Given the description of an element on the screen output the (x, y) to click on. 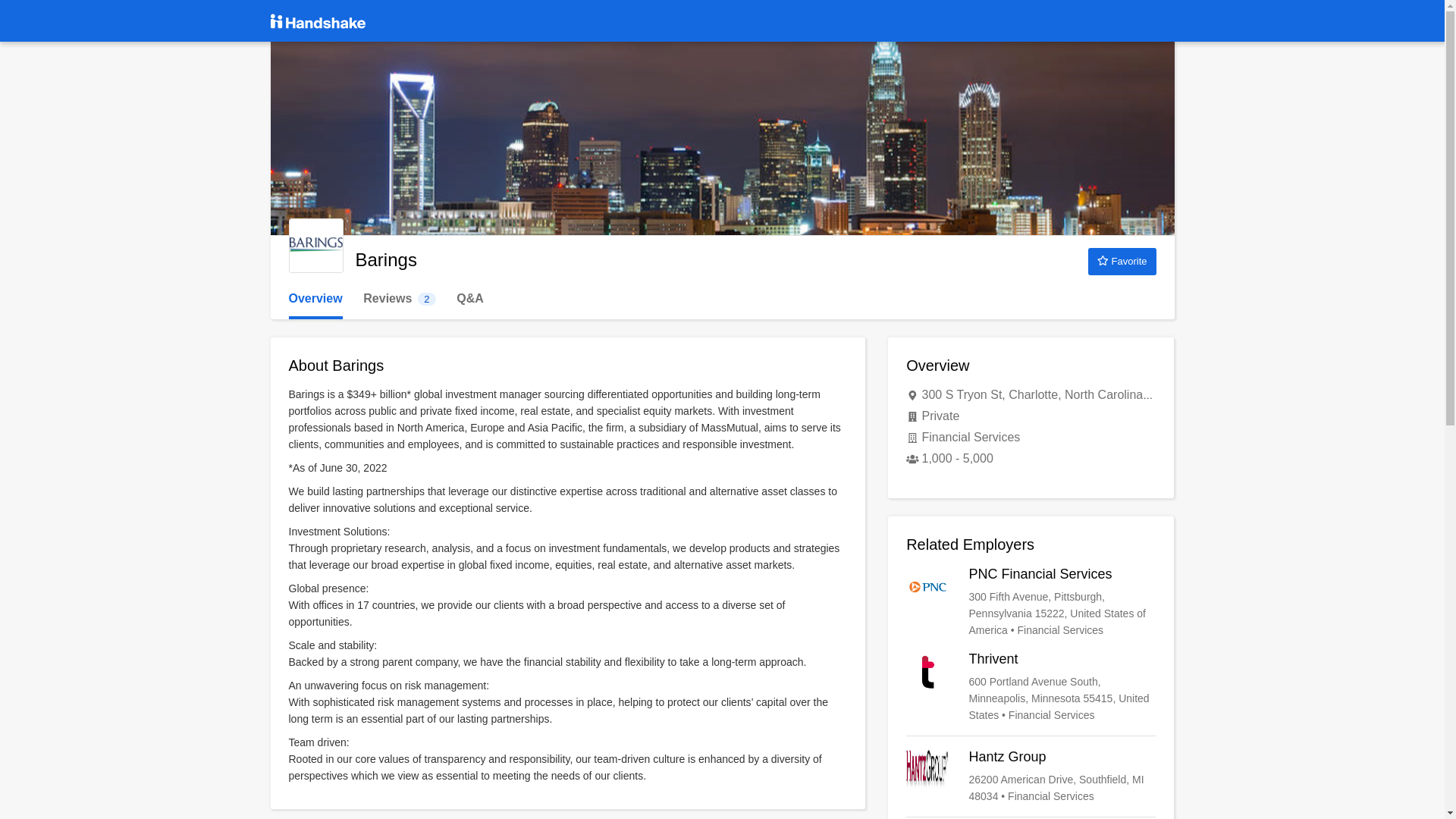
Barings (315, 245)
Hantz Group (1030, 776)
PNC Financial Services (1030, 601)
Overview (315, 298)
Thrivent (1030, 686)
Favorite (398, 298)
